Given the description of an element on the screen output the (x, y) to click on. 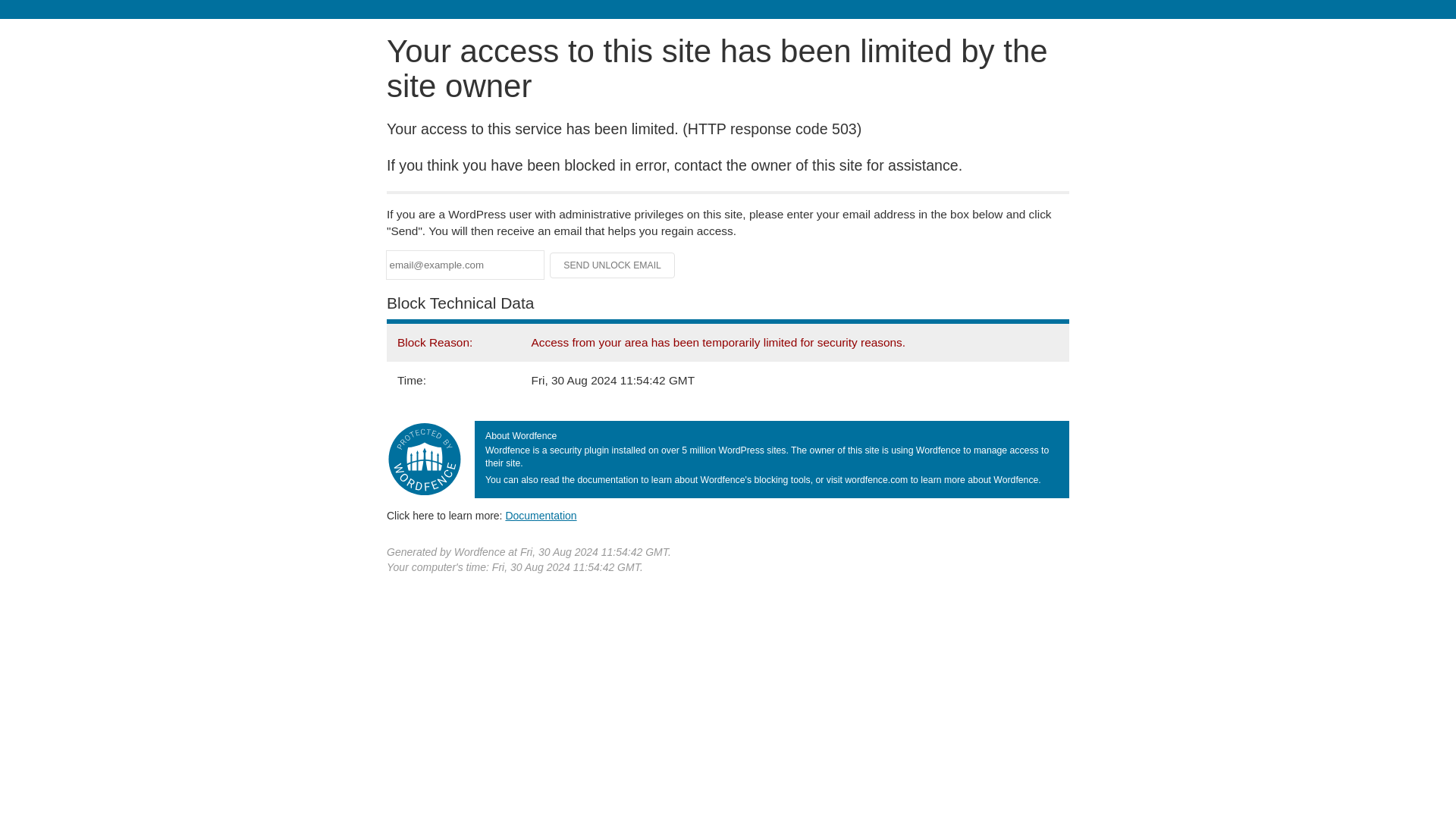
Documentation (540, 515)
Send Unlock Email (612, 265)
Send Unlock Email (612, 265)
